Given the description of an element on the screen output the (x, y) to click on. 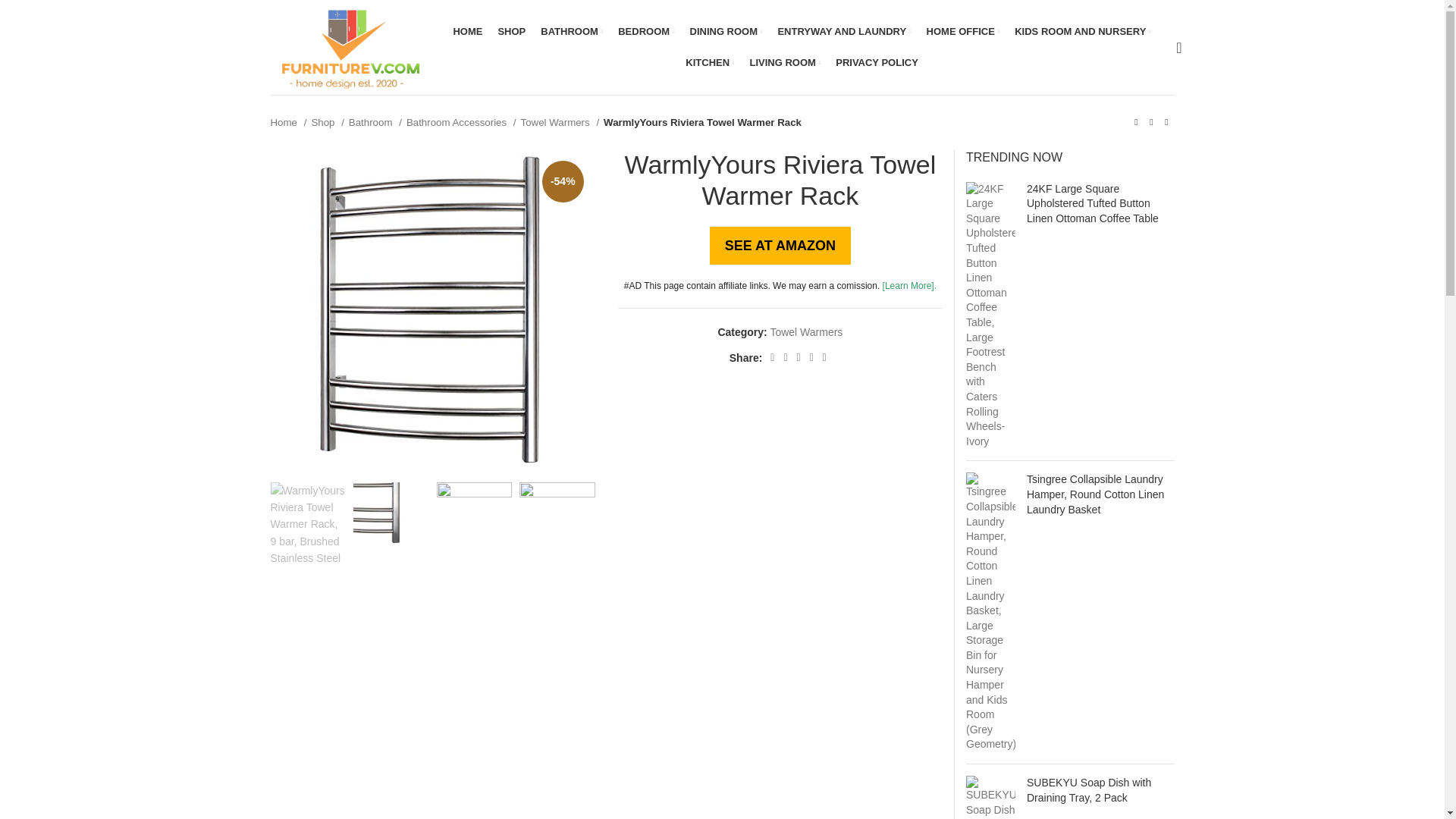
LIVING ROOM (785, 62)
BATHROOM (571, 31)
Towel Warmers (560, 122)
Shop (327, 122)
SHOP (511, 31)
HOME OFFICE (963, 31)
PRIVACY POLICY (876, 62)
Home (287, 122)
